Given the description of an element on the screen output the (x, y) to click on. 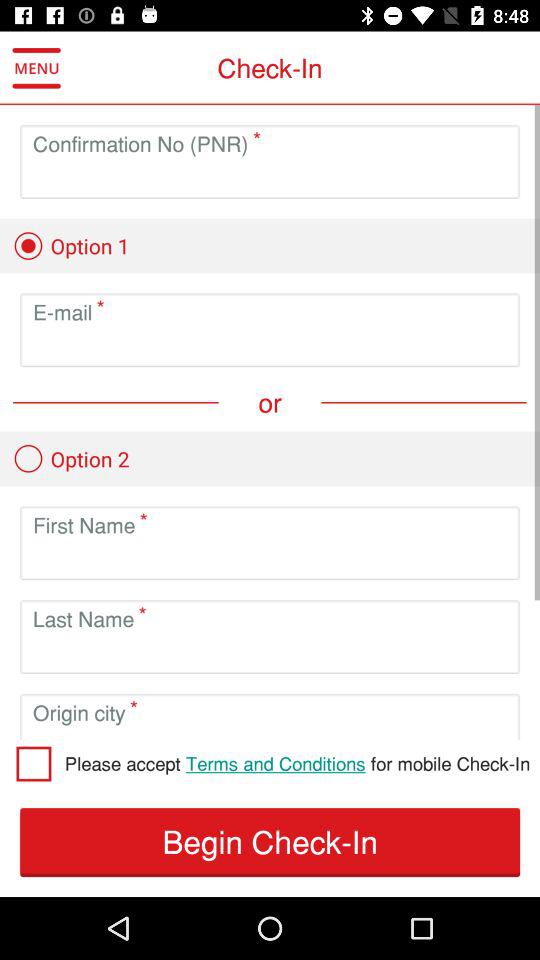
select the text input field which is below the last name (269, 653)
go to option2 (70, 458)
select the option which is above the begin checkin (296, 763)
click on first radio button and text (70, 245)
move to  right to lsat name (139, 610)
